Given the description of an element on the screen output the (x, y) to click on. 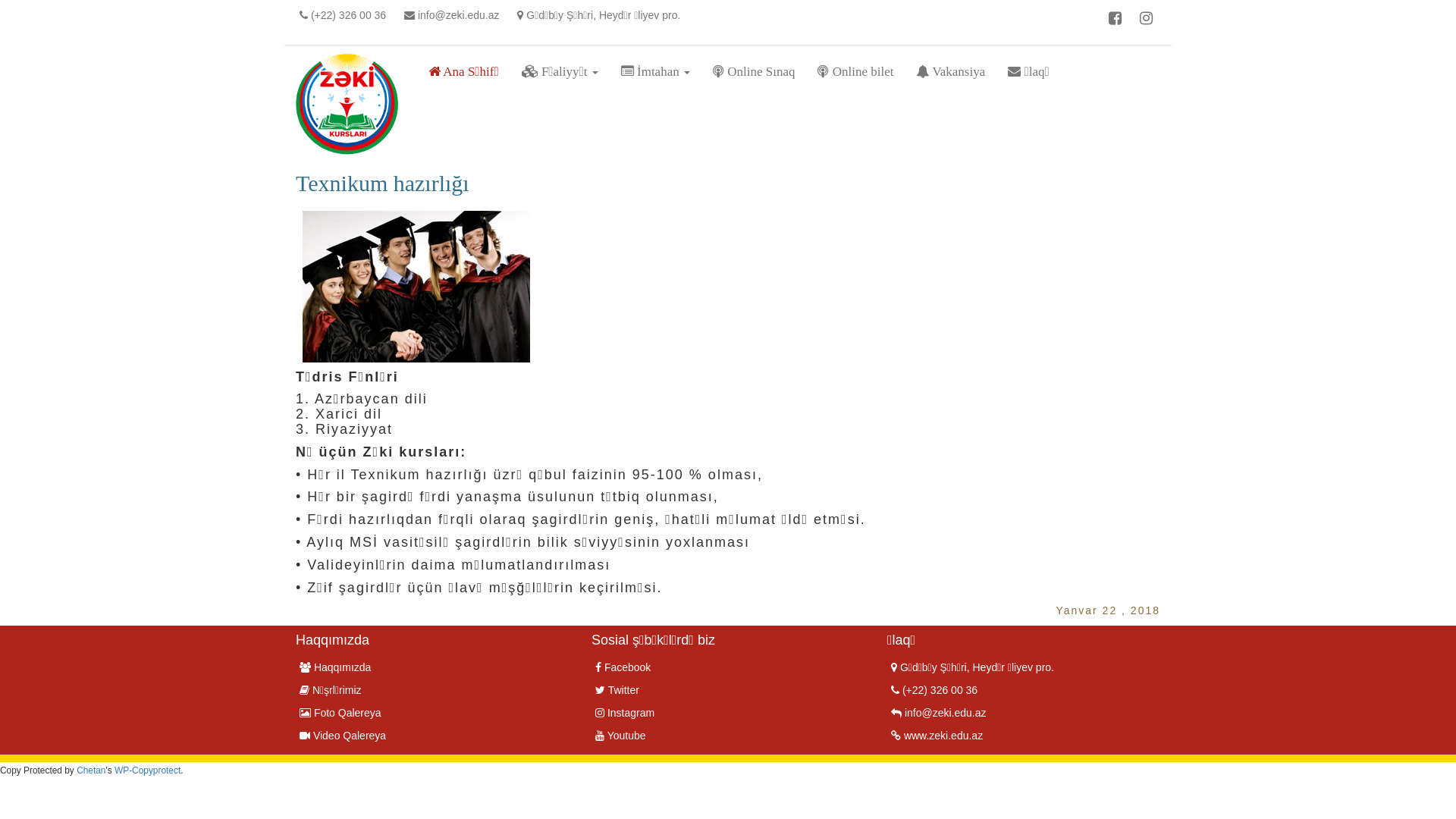
Facebook Element type: text (622, 667)
Instagram Element type: text (624, 712)
Vakansiya Element type: text (950, 72)
info@zeki.edu.az Element type: text (938, 712)
Online bilet Element type: text (855, 72)
Foto Qalereya Element type: text (340, 712)
Video Qalereya Element type: text (342, 735)
Chetan Element type: text (90, 770)
www.zeki.edu.az Element type: text (936, 735)
WP-Copyprotect Element type: text (147, 770)
Twitter Element type: text (617, 690)
Youtube Element type: text (620, 735)
(+22) 326 00 36 Element type: text (934, 690)
